Given the description of an element on the screen output the (x, y) to click on. 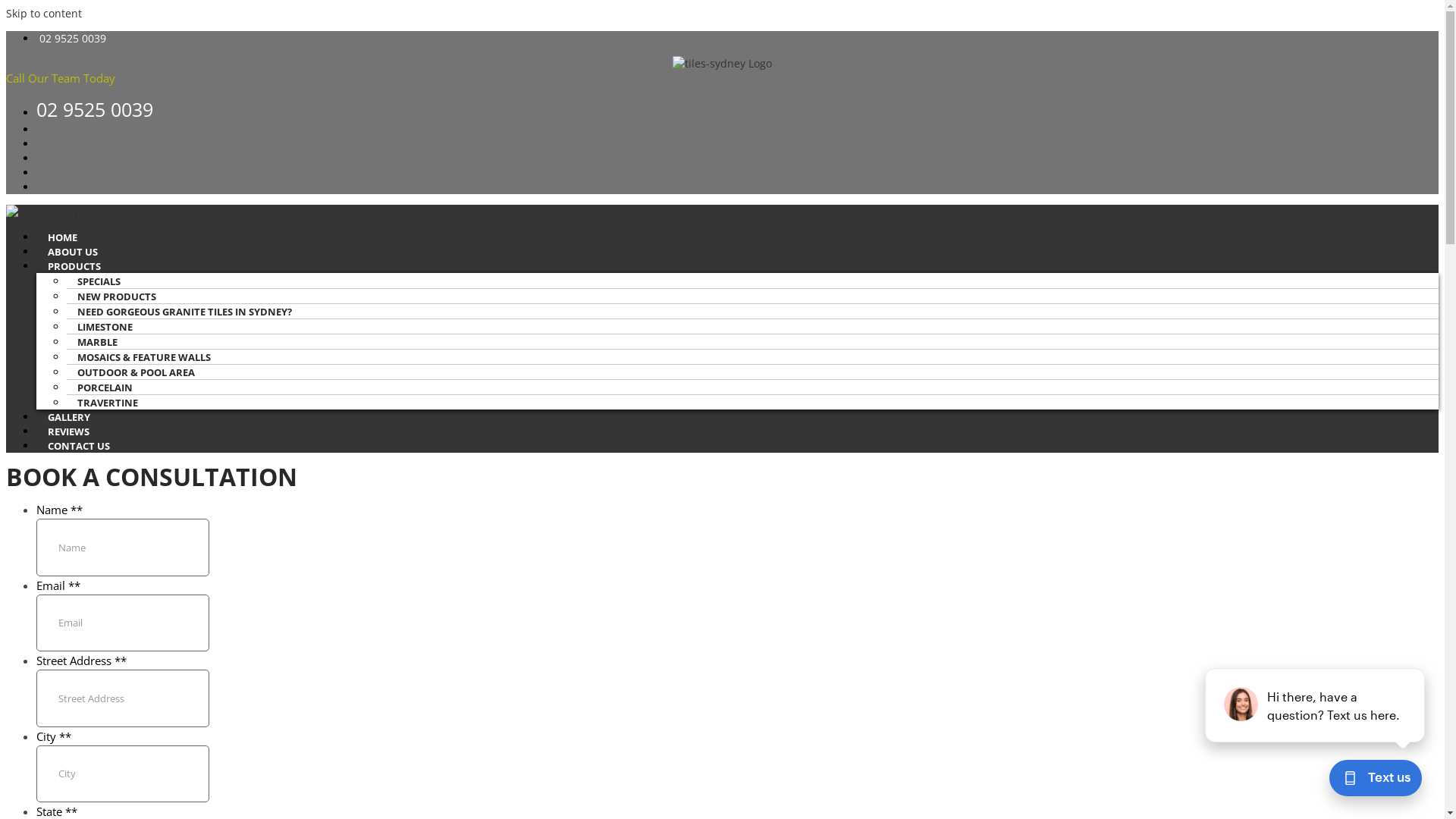
HOME Element type: text (62, 237)
TRAVERTINE Element type: text (113, 402)
GALLERY Element type: text (68, 416)
NEW PRODUCTS Element type: text (122, 296)
SPECIALS Element type: text (104, 280)
MOSAICS & FEATURE WALLS Element type: text (149, 356)
MARBLE Element type: text (103, 341)
NEED GORGEOUS GRANITE TILES IN SYDNEY? Element type: text (190, 311)
02 9525 0039 Element type: text (72, 38)
LIMESTONE Element type: text (110, 326)
OUTDOOR & POOL AREA Element type: text (141, 371)
CONTACT US Element type: text (78, 445)
PRODUCTS Element type: text (74, 265)
02 9525 0039 Element type: text (94, 112)
ABOUT US Element type: text (72, 251)
Skip to content Element type: text (43, 13)
podium webchat widget prompt Element type: hover (1315, 705)
REVIEWS Element type: text (68, 431)
PORCELAIN Element type: text (110, 387)
